Given the description of an element on the screen output the (x, y) to click on. 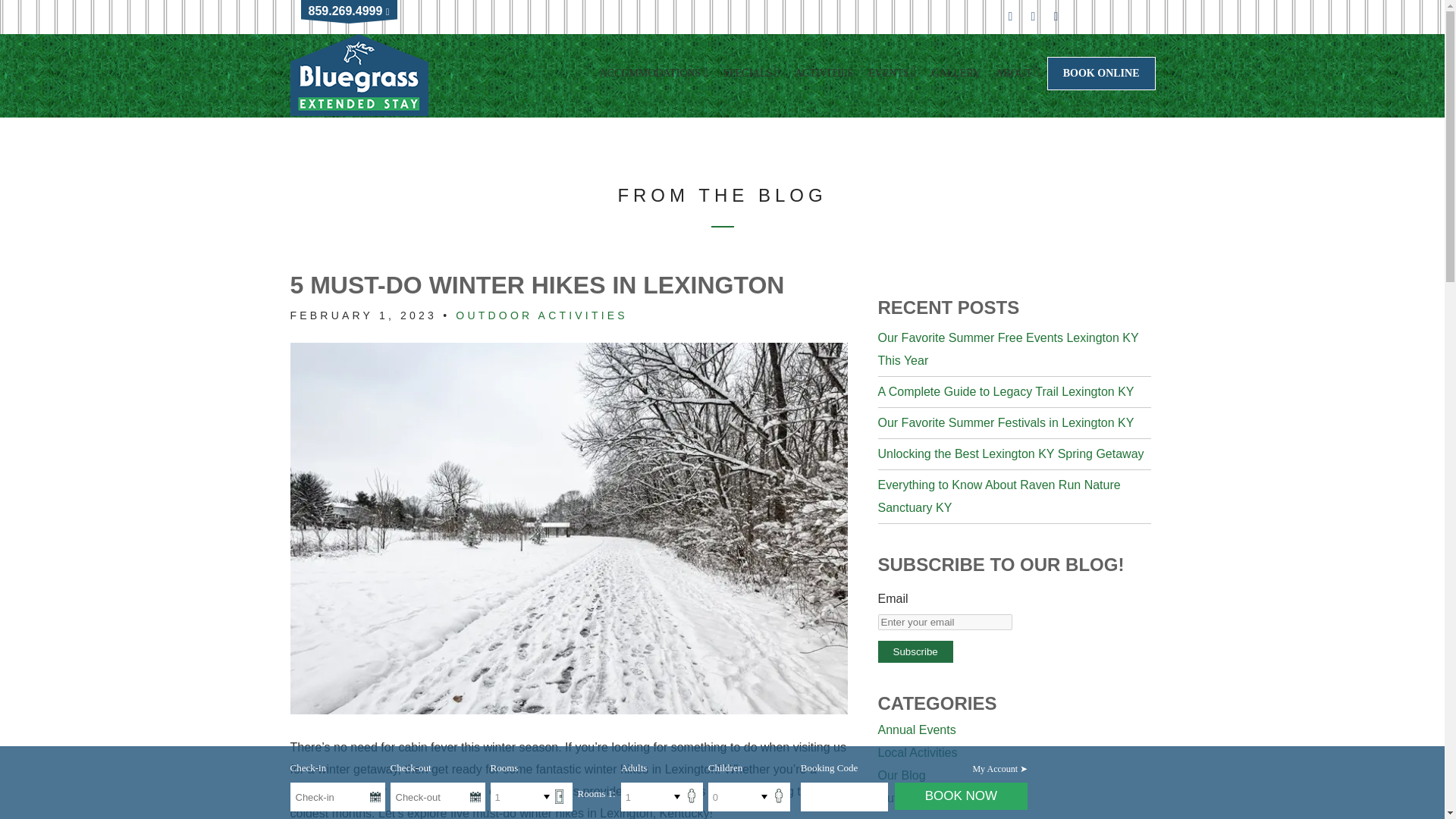
Select Number of Children (767, 796)
SPECIALS (751, 73)
Select Number of Rooms (548, 796)
ACTIVITIES (823, 73)
Promo Code (844, 796)
Subscribe (915, 651)
ABOUT (1017, 73)
Select Check Out Date (437, 796)
EVENTS (891, 73)
Select Check In Date (336, 796)
